Given the description of an element on the screen output the (x, y) to click on. 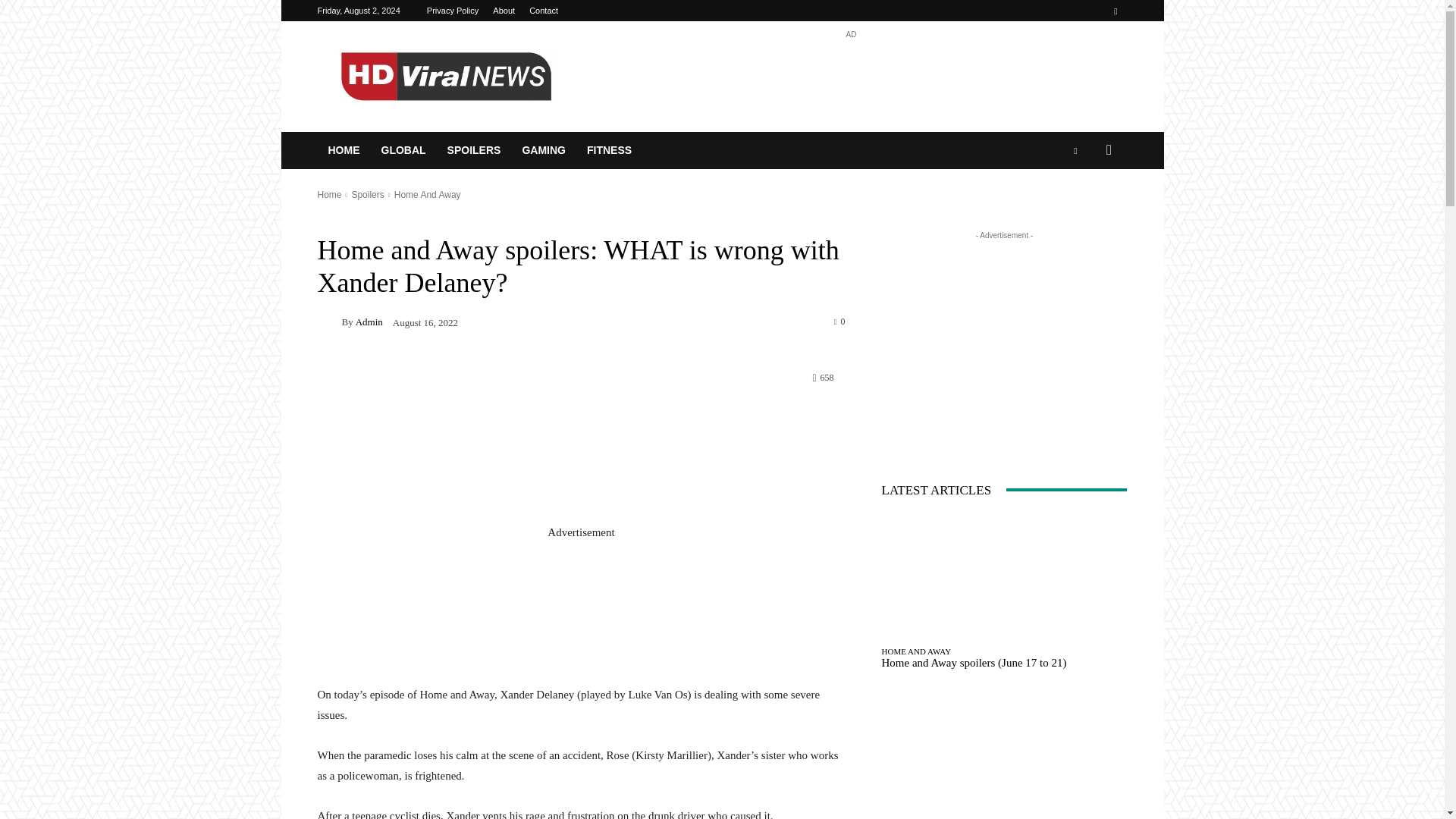
Facebook (1114, 10)
Contact (543, 10)
SPOILERS (474, 149)
About (504, 10)
HOME (343, 149)
Privacy Policy (452, 10)
GLOBAL (402, 149)
